Given the description of an element on the screen output the (x, y) to click on. 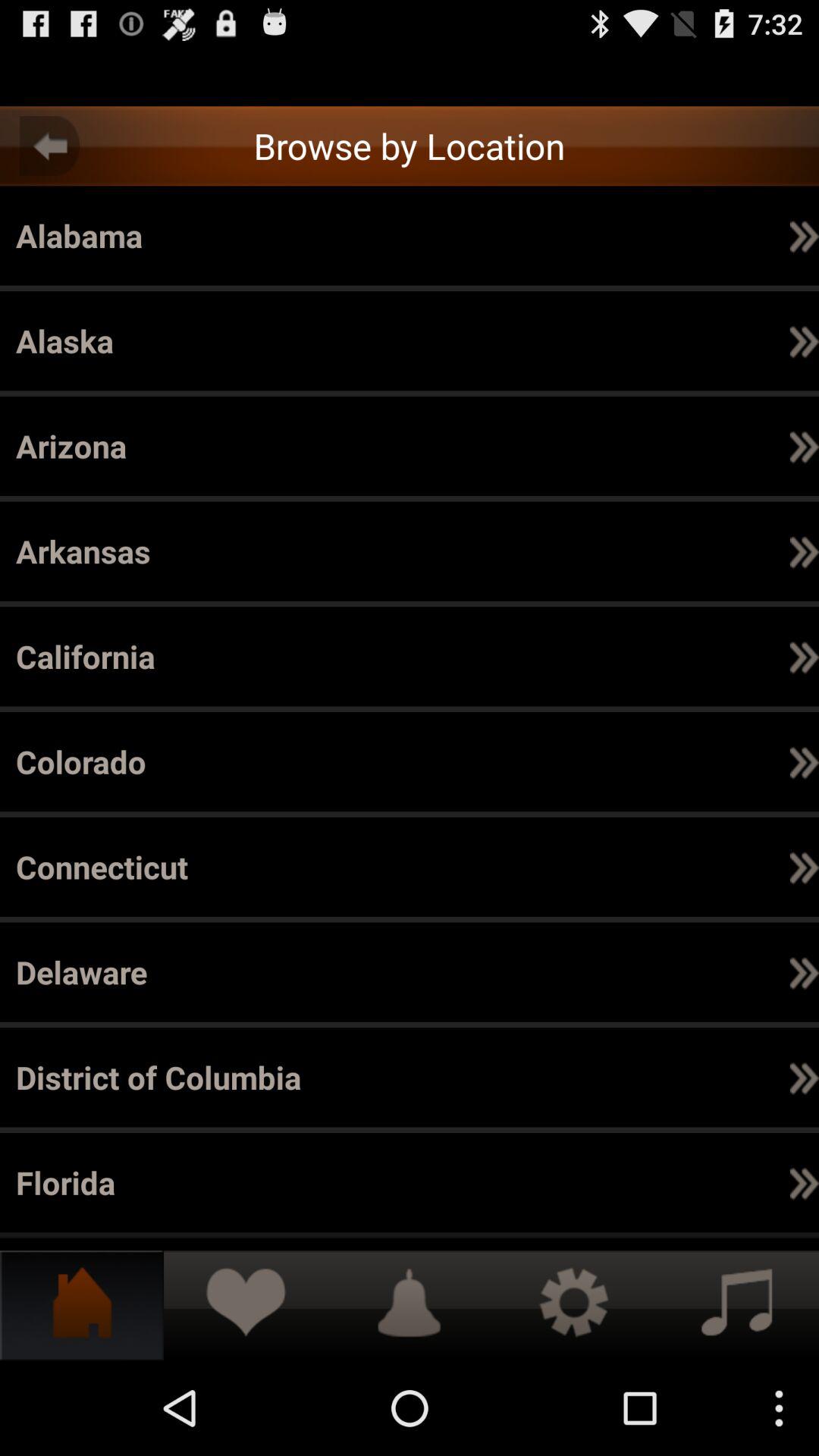
tap item to the right of the   el dorado icon (658, 1182)
